Given the description of an element on the screen output the (x, y) to click on. 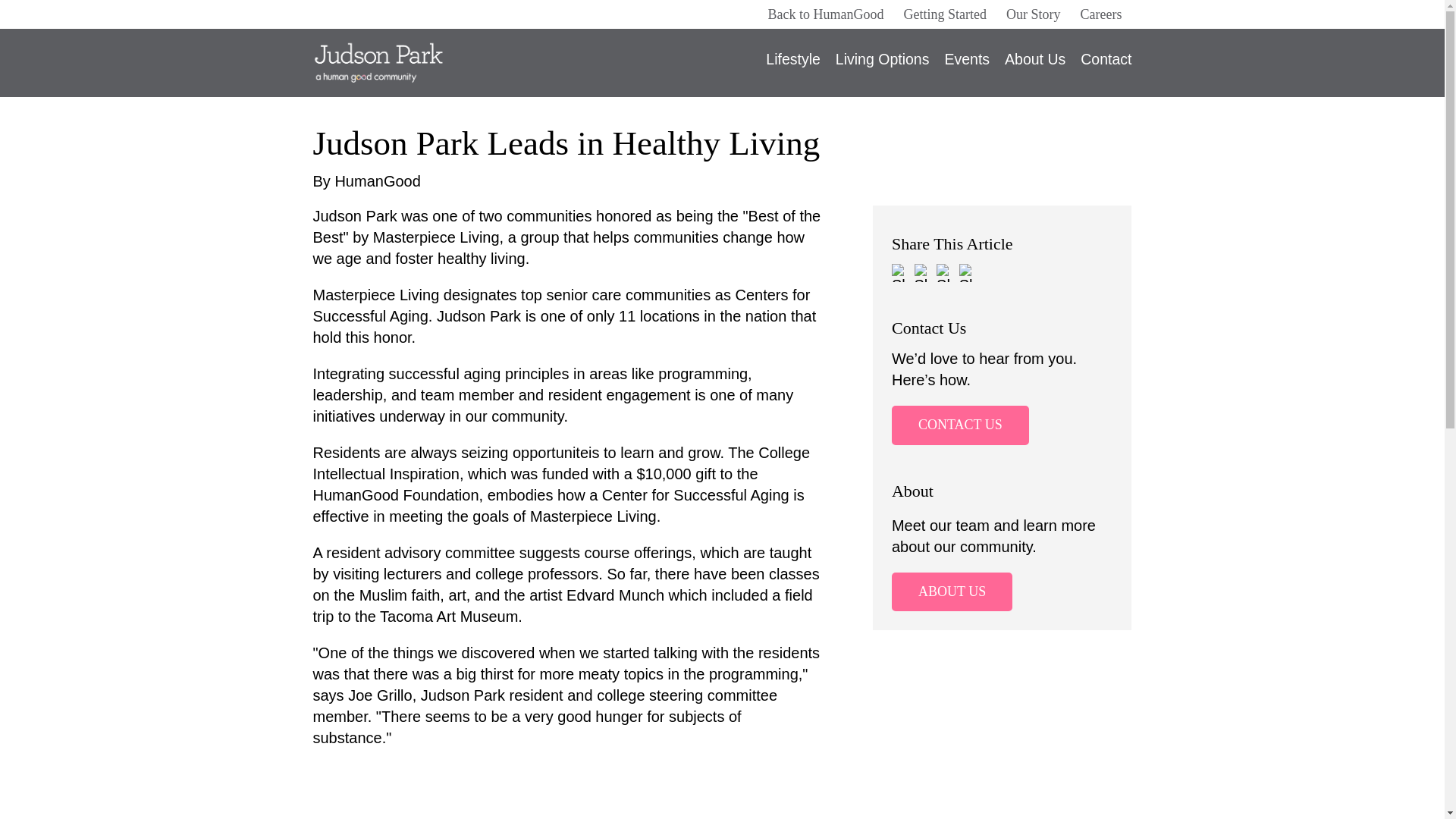
CONTACT US (960, 425)
Contact (1102, 63)
Living Options (882, 63)
Careers (1101, 14)
Back to HumanGood (825, 14)
Events (966, 63)
ABOUT US (951, 591)
Getting Started (944, 14)
Our Story (1032, 14)
Lifestyle (793, 63)
